Given the description of an element on the screen output the (x, y) to click on. 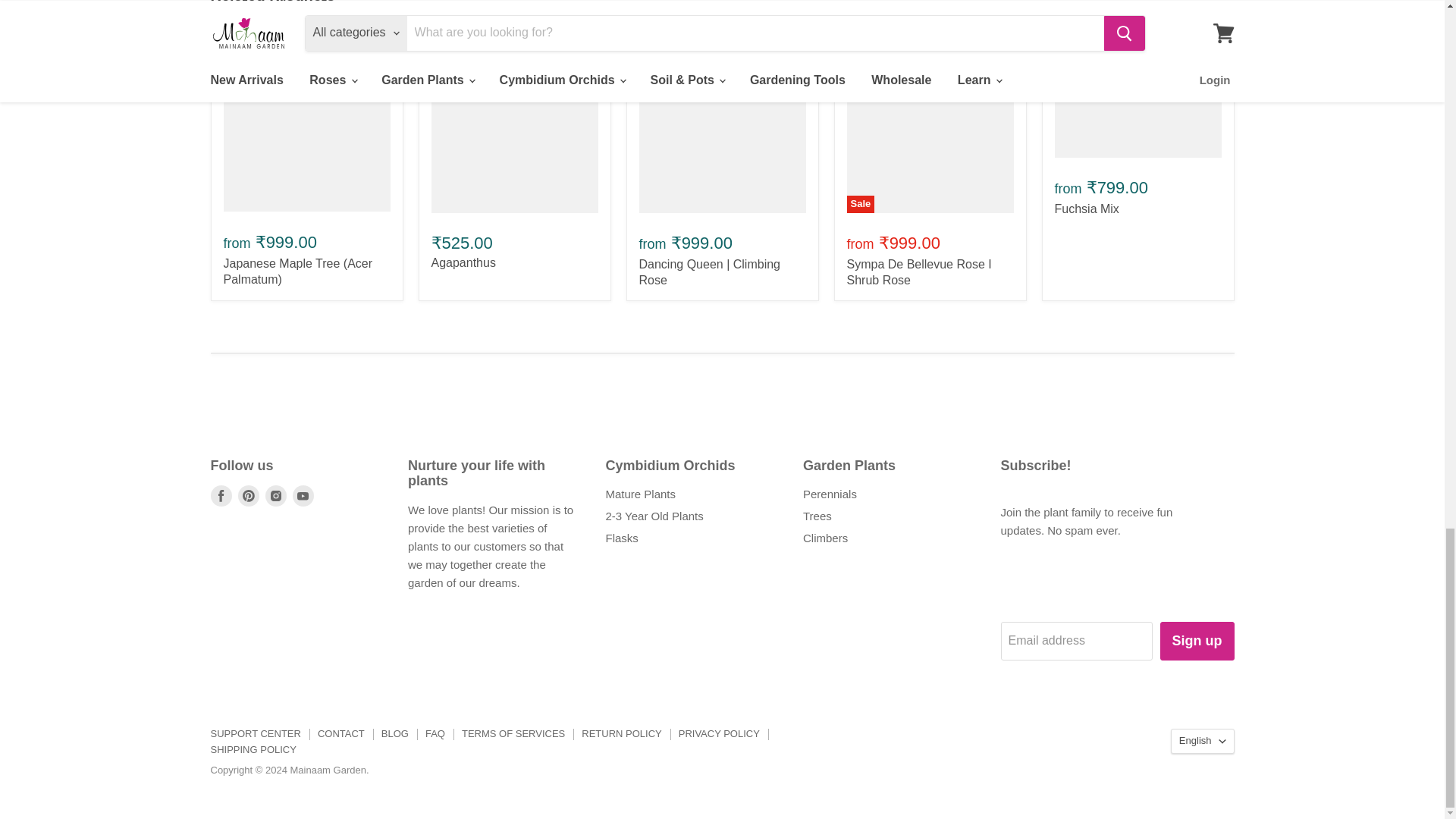
Instagram (275, 495)
Facebook (221, 495)
Youtube (303, 495)
Pinterest (248, 495)
